Given the description of an element on the screen output the (x, y) to click on. 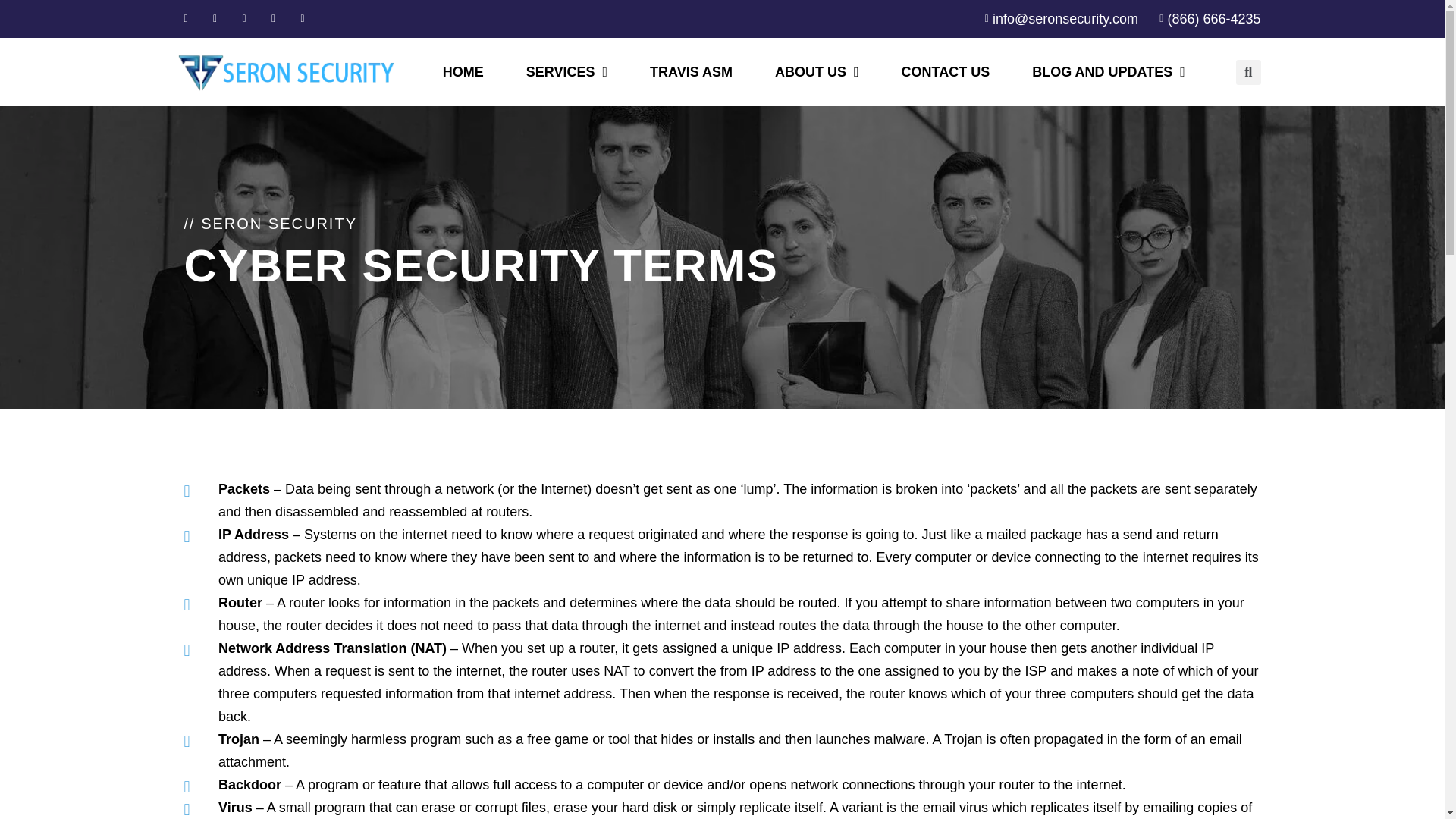
CONTACT US (945, 71)
TRAVIS ASM (691, 71)
BLOG AND UPDATES (1108, 71)
SERVICES (567, 71)
ABOUT US (817, 71)
